Given the description of an element on the screen output the (x, y) to click on. 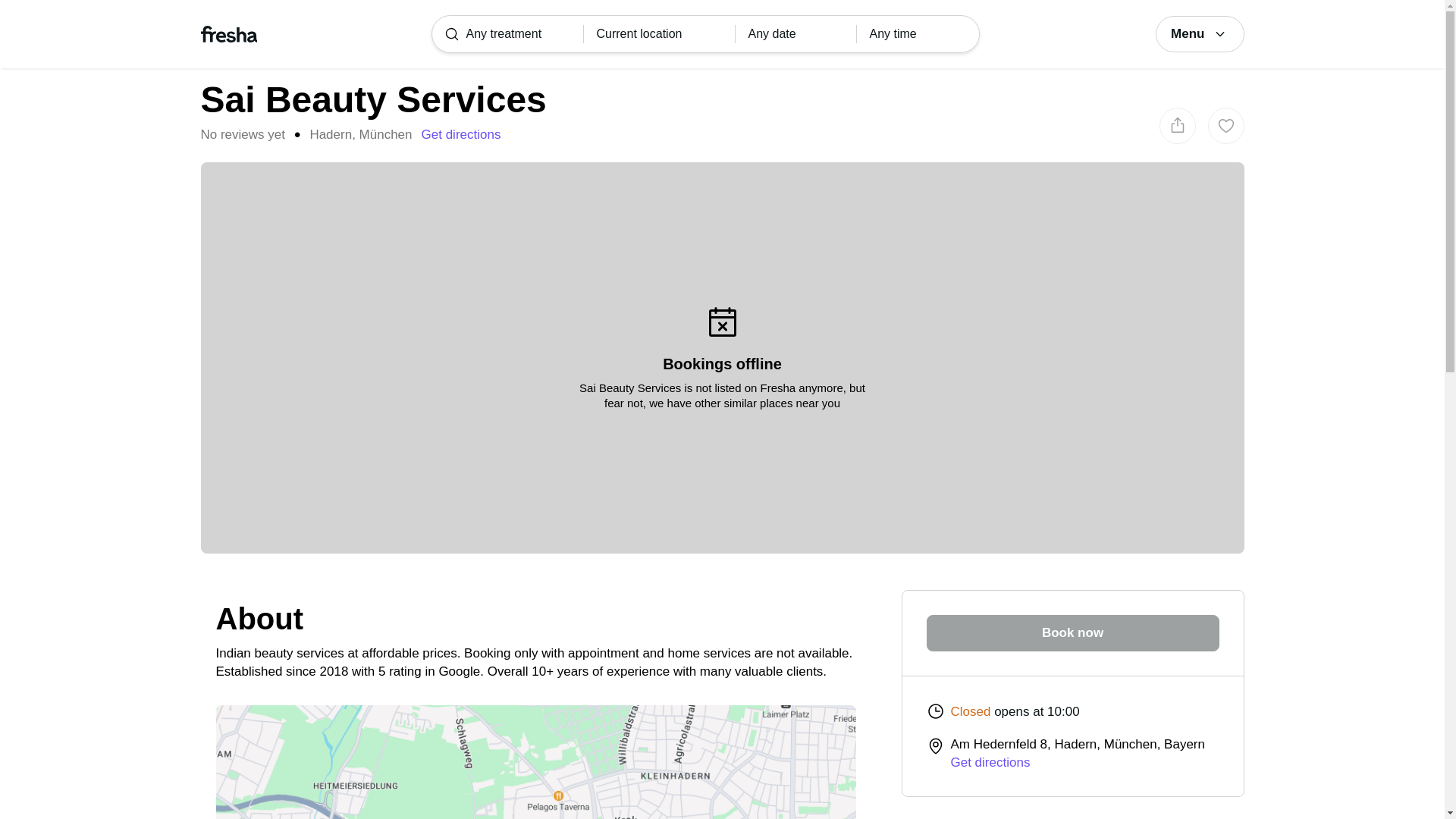
Menu (1199, 33)
Book now (1073, 633)
Get directions (461, 135)
Get directions (990, 762)
